Given the description of an element on the screen output the (x, y) to click on. 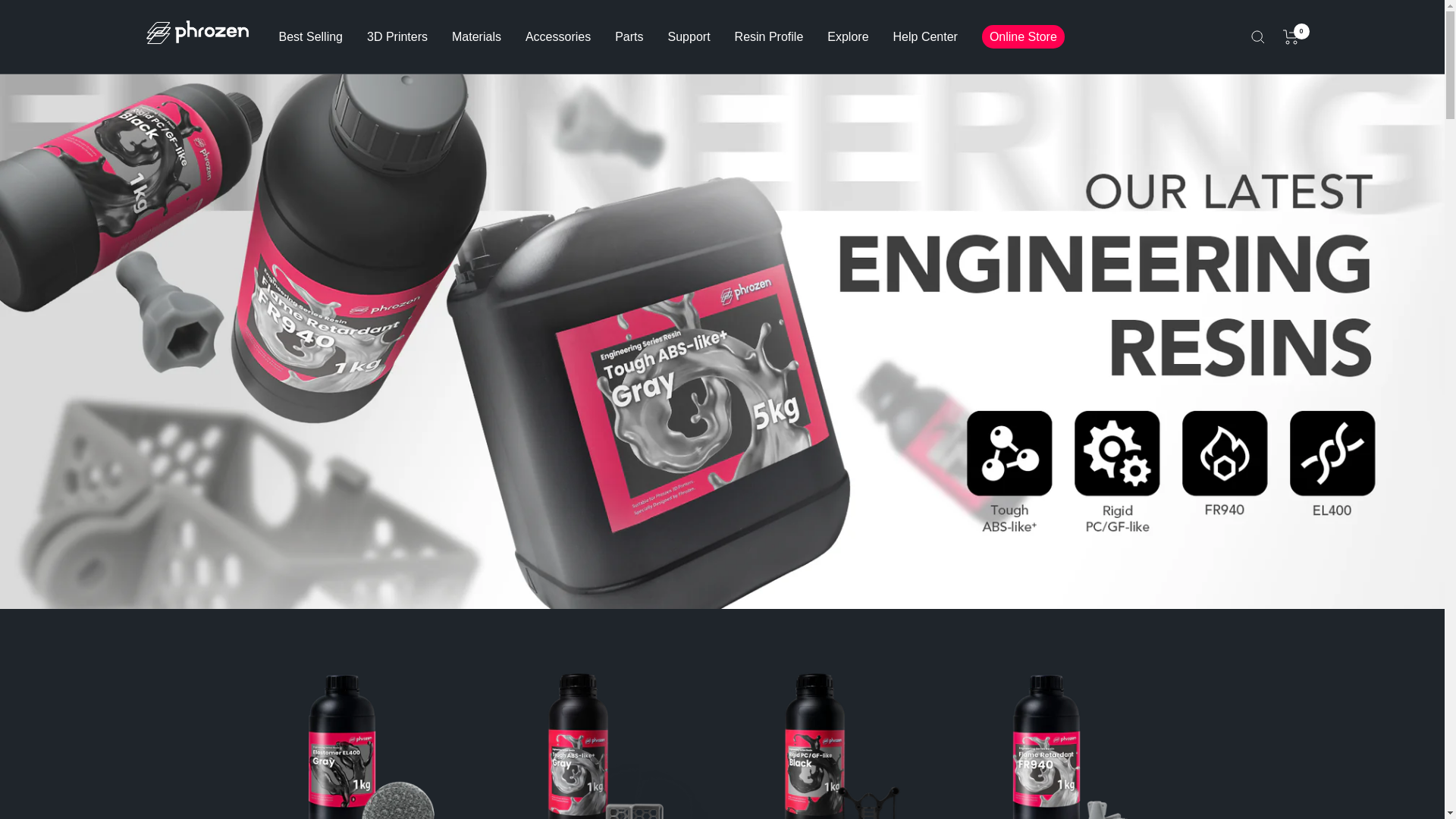
Explore (847, 36)
Best Selling (311, 36)
Online Store (1022, 37)
Parts (628, 36)
Support (689, 36)
0 (1290, 37)
Accessories (558, 36)
3D Printers (397, 36)
Phrozen Technology (196, 36)
Resin Profile (769, 36)
